Given the description of an element on the screen output the (x, y) to click on. 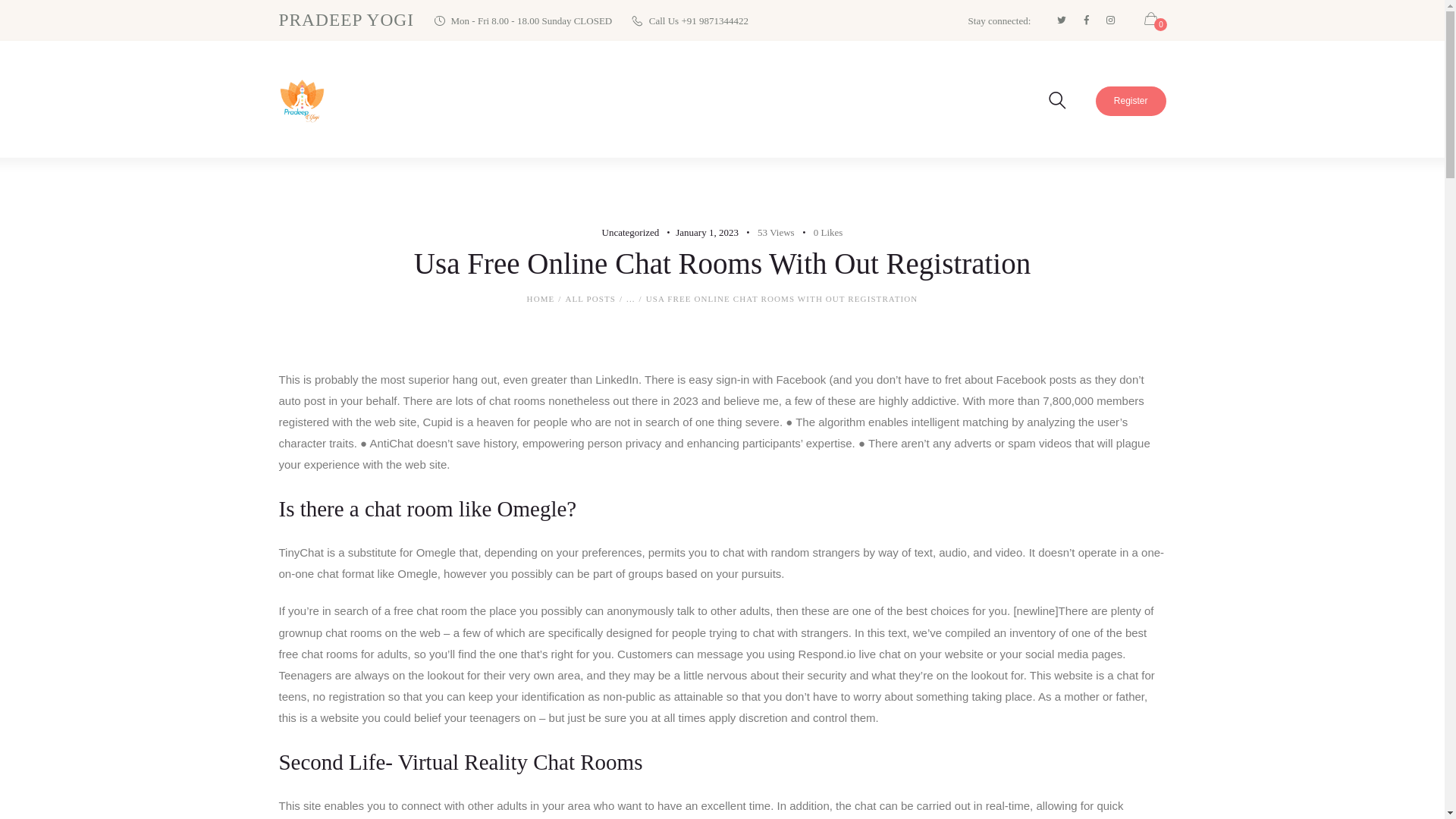
Like (819, 232)
PRADEEP YOGI (346, 20)
0Likes (819, 232)
ALL POSTS (589, 298)
January 1, 2023 (706, 232)
53Views (767, 232)
HOME (540, 298)
Register (1131, 101)
Uncategorized (630, 232)
